Given the description of an element on the screen output the (x, y) to click on. 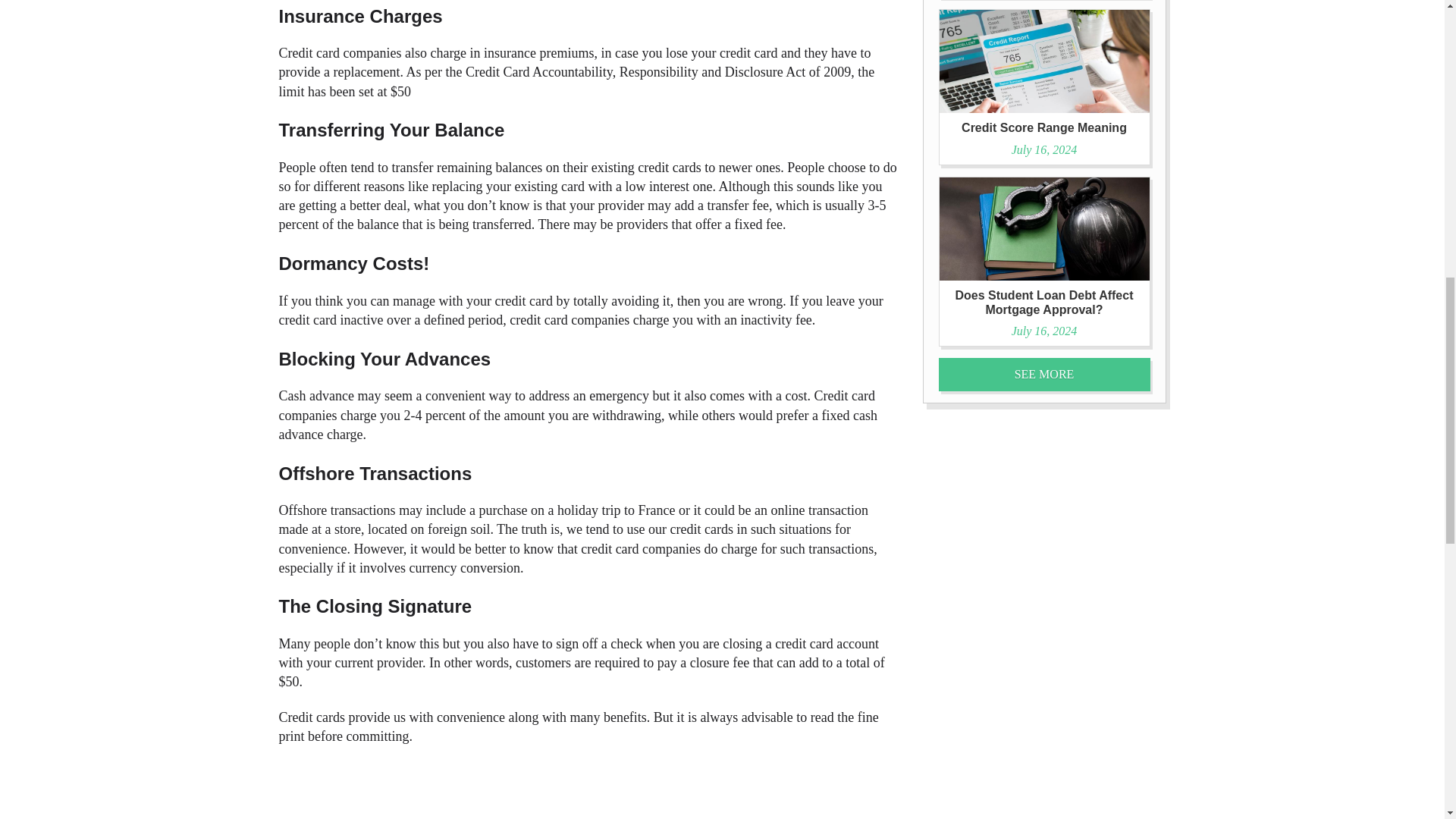
SEE MORE (1044, 373)
